Given the description of an element on the screen output the (x, y) to click on. 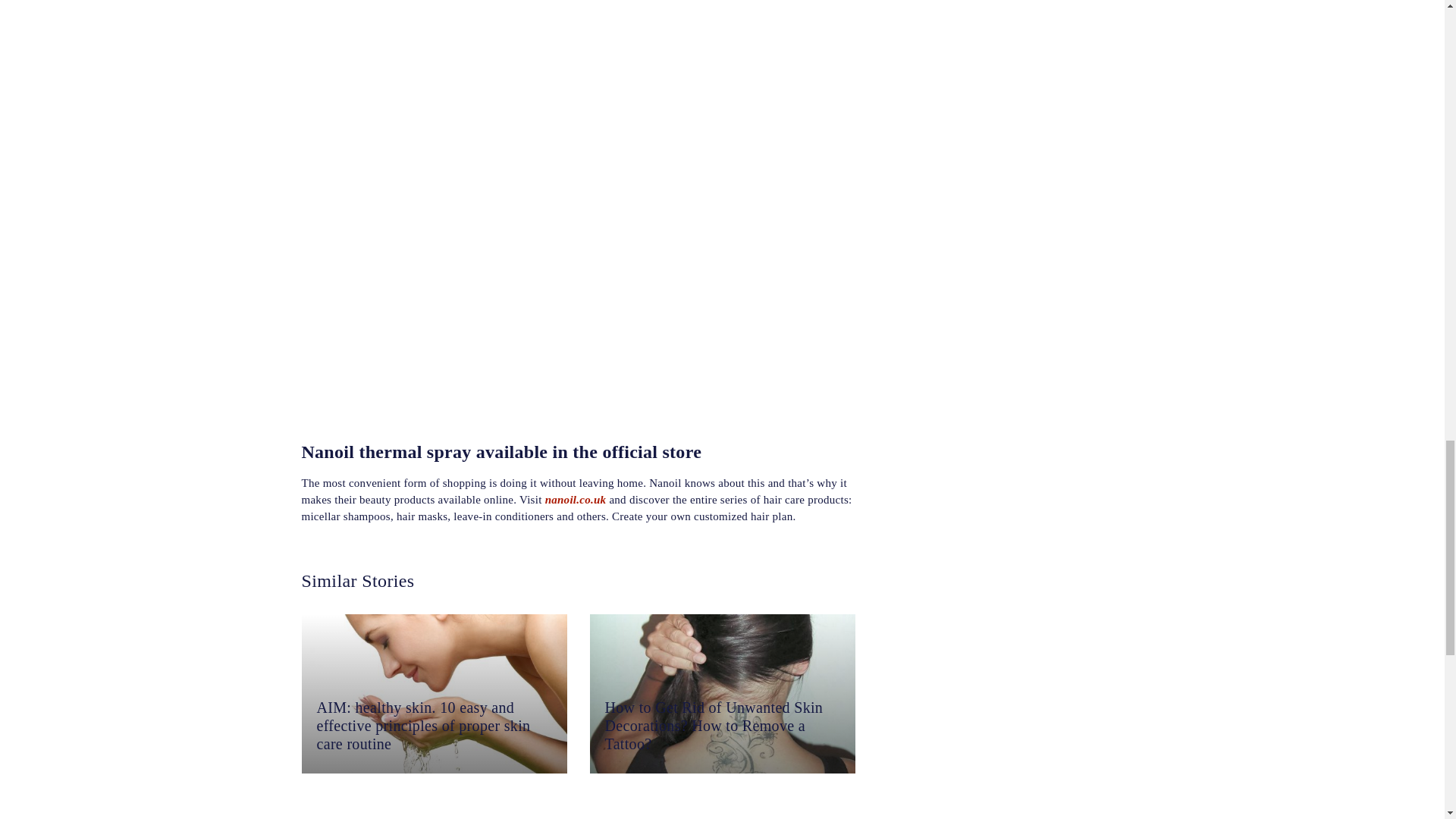
nanoil.co.uk (575, 499)
